Given the description of an element on the screen output the (x, y) to click on. 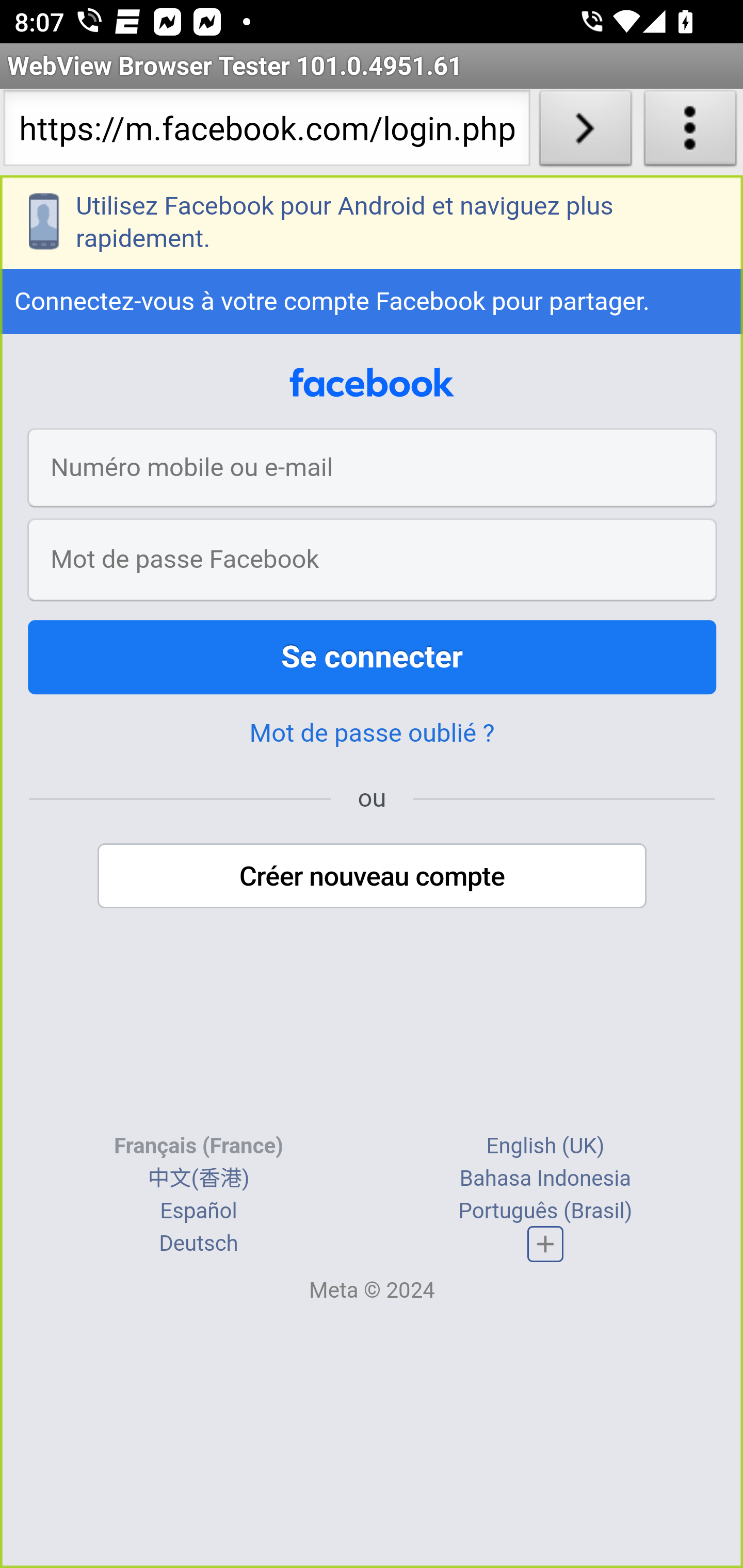
Load URL (585, 132)
About WebView (690, 132)
facebook (372, 382)
Se connecter (372, 656)
Mot de passe oublié ? (371, 732)
Créer nouveau compte (372, 875)
English (UK) (544, 1145)
中文(香港) (198, 1178)
Bahasa Indonesia (545, 1178)
Español (198, 1210)
Português (Brasil) (544, 1210)
Liste complète des langues (545, 1243)
Deutsch (198, 1242)
